Given the description of an element on the screen output the (x, y) to click on. 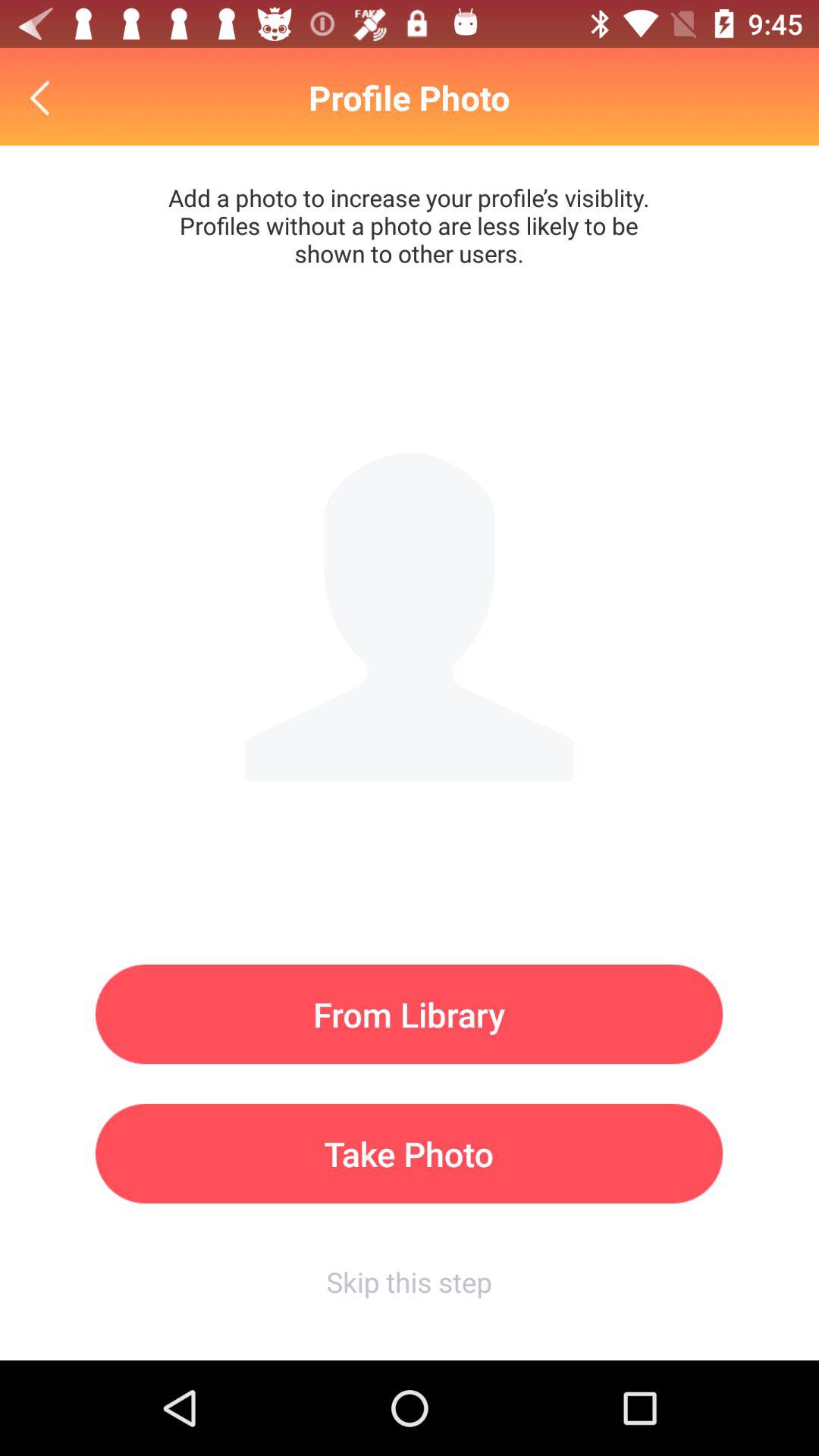
choose icon below take photo item (408, 1281)
